Given the description of an element on the screen output the (x, y) to click on. 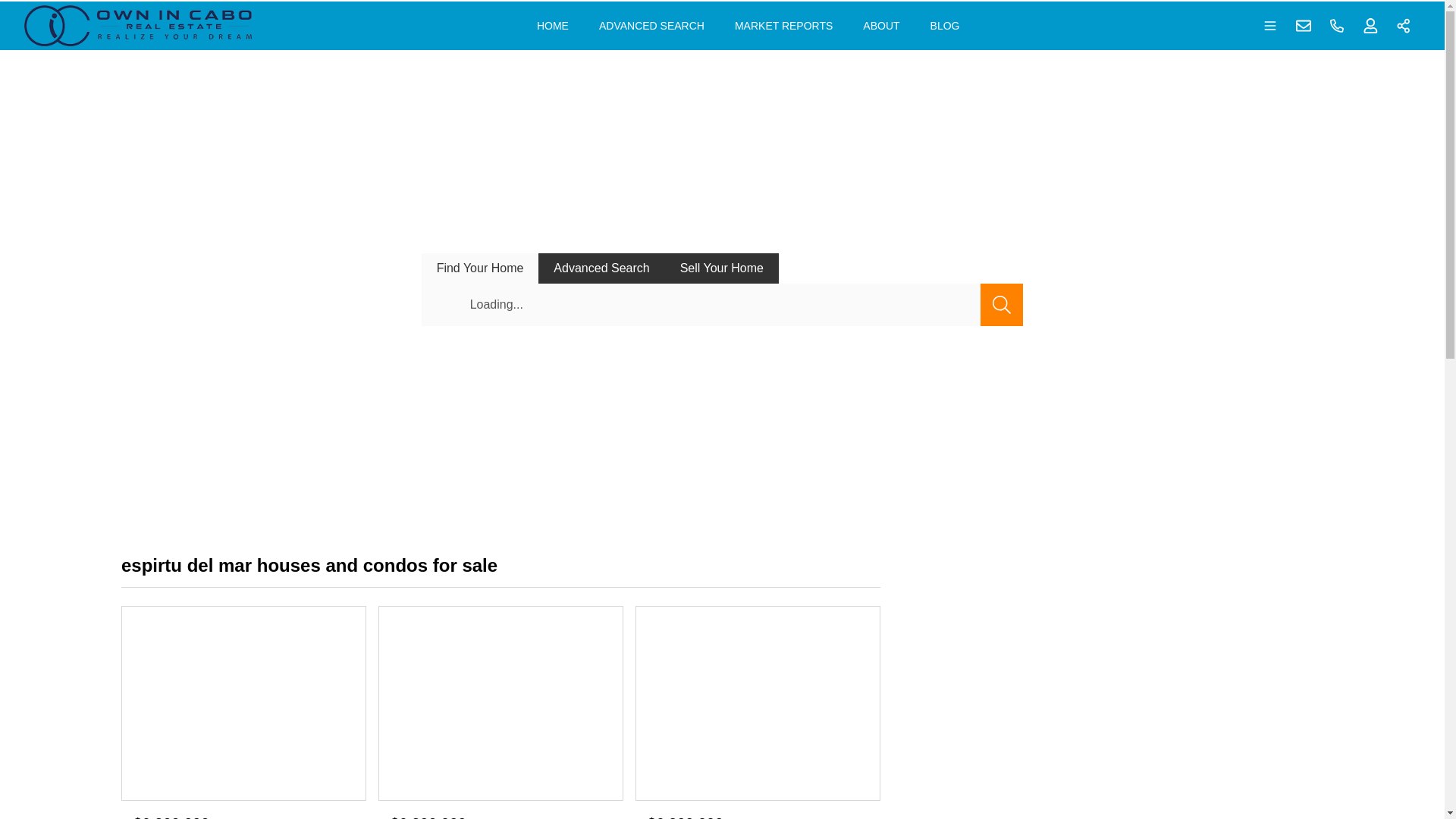
HOME (552, 25)
Open main menu (1270, 25)
Contact us (1303, 25)
Sign up or Sign in (1370, 25)
Sell Your Home (720, 267)
MARKET REPORTS (783, 25)
Phone number (1337, 25)
Share (1404, 25)
Advanced Search (601, 267)
Owninloscabosrealestate.com (137, 24)
BLOG (945, 25)
ABOUT (880, 25)
ADVANCED SEARCH (651, 25)
